Given the description of an element on the screen output the (x, y) to click on. 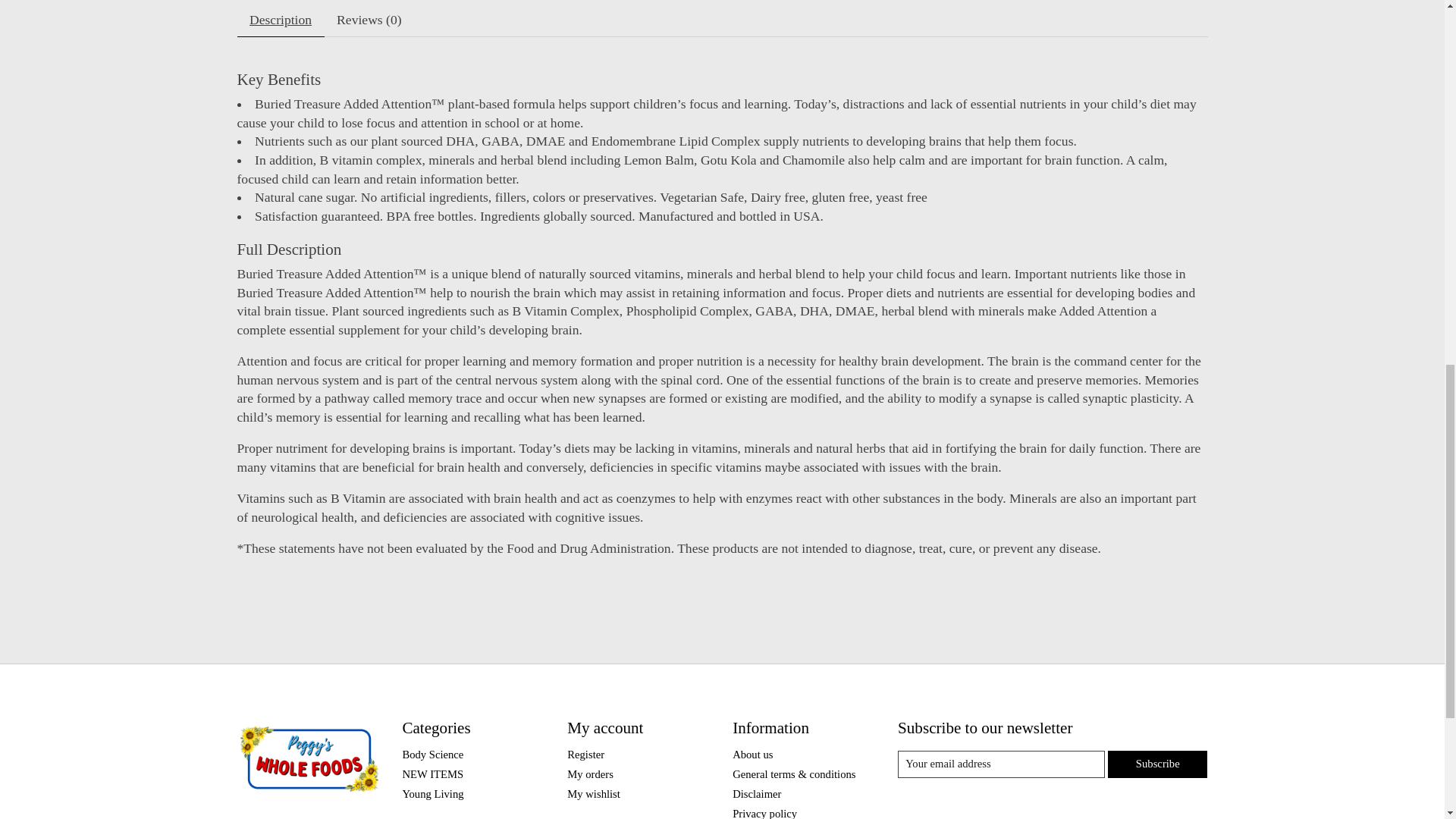
My orders (589, 774)
Disclaimer (756, 793)
Privacy policy (764, 813)
Description (279, 20)
My wishlist (593, 793)
About us (752, 753)
Register (585, 753)
